Given the description of an element on the screen output the (x, y) to click on. 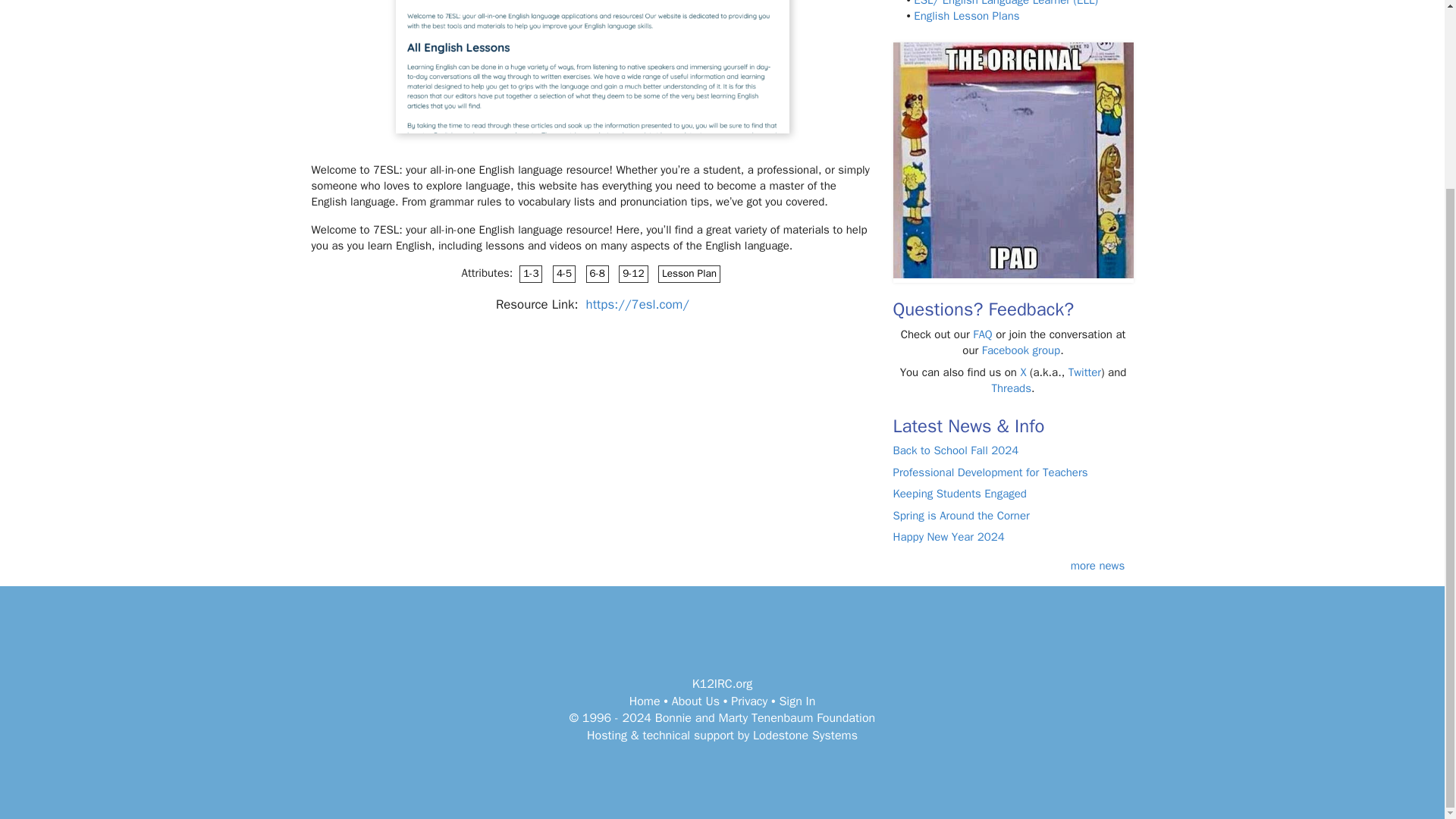
Home (644, 701)
more news (1097, 565)
9-12 (632, 273)
4-5 (564, 273)
6-8 (597, 273)
Threads (1010, 387)
Privacy (748, 701)
Facebook group (1020, 350)
Twitter (1084, 372)
Lodestone Systems (804, 735)
English Lesson Plans (966, 15)
Spring is Around the Corner (961, 515)
Happy New Year 2024 (948, 536)
About Us (695, 701)
Professional Development for Teachers (990, 472)
